Given the description of an element on the screen output the (x, y) to click on. 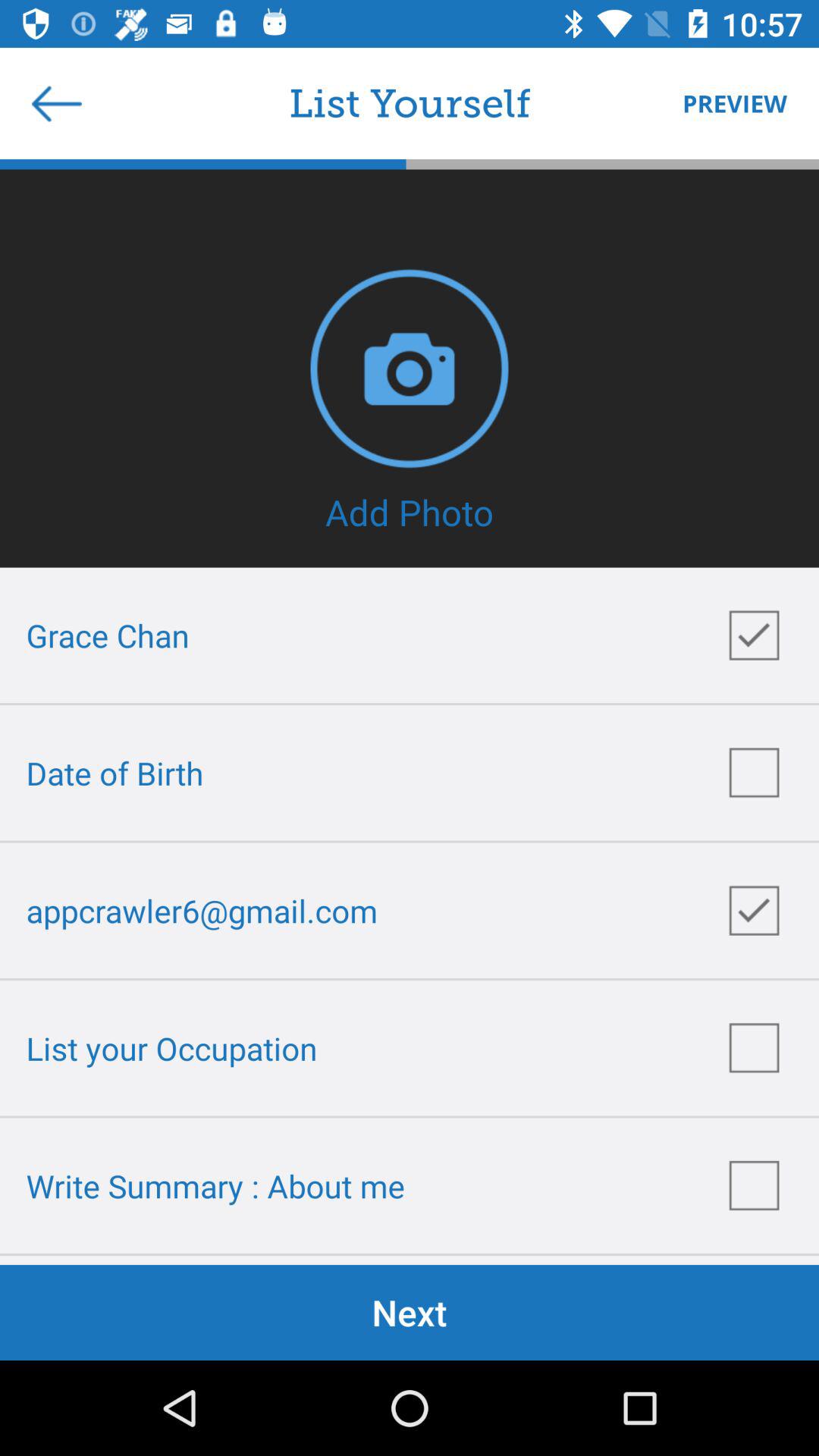
tap next icon (409, 1312)
